Given the description of an element on the screen output the (x, y) to click on. 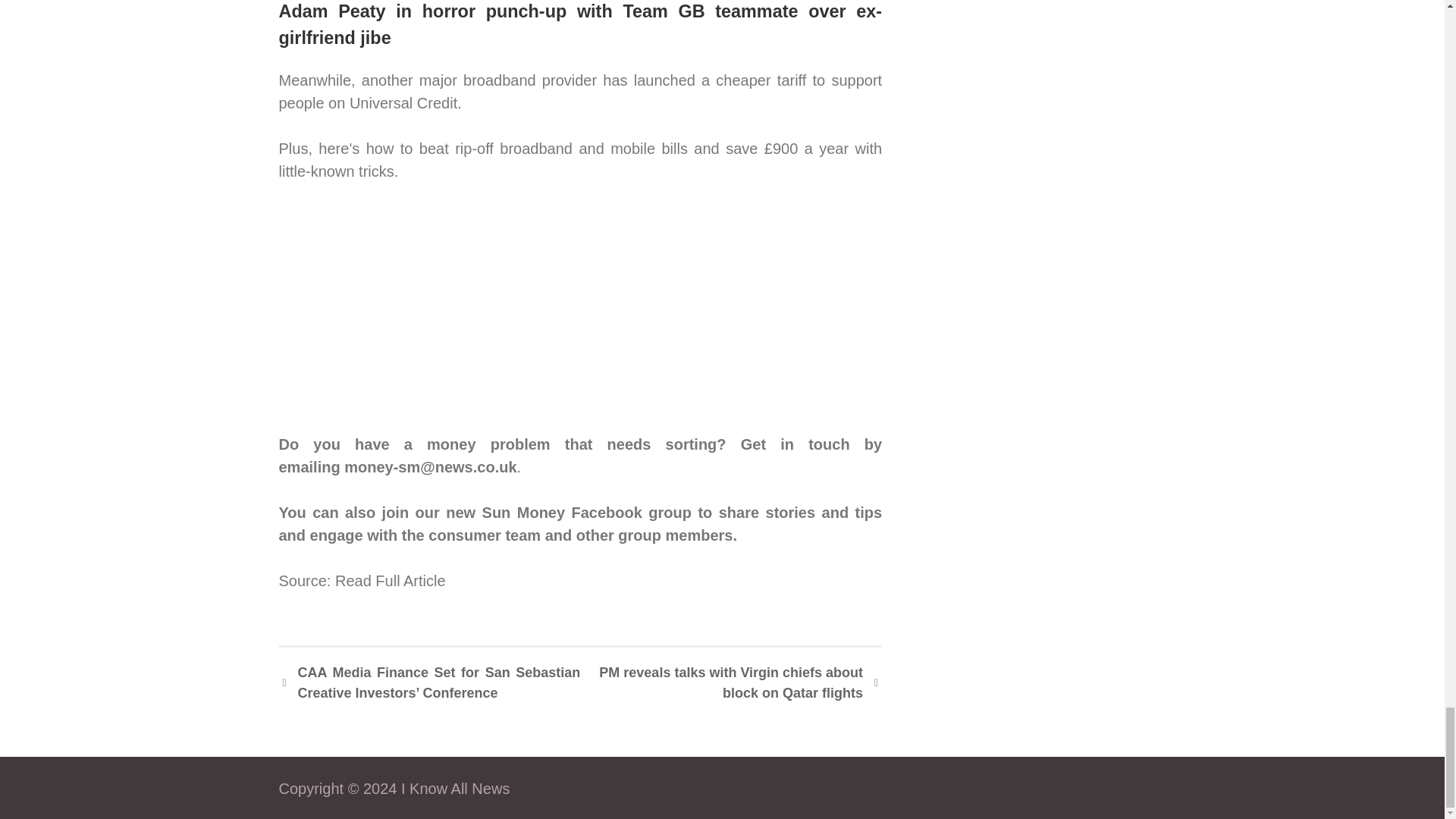
Read Full Article (389, 580)
